Given the description of an element on the screen output the (x, y) to click on. 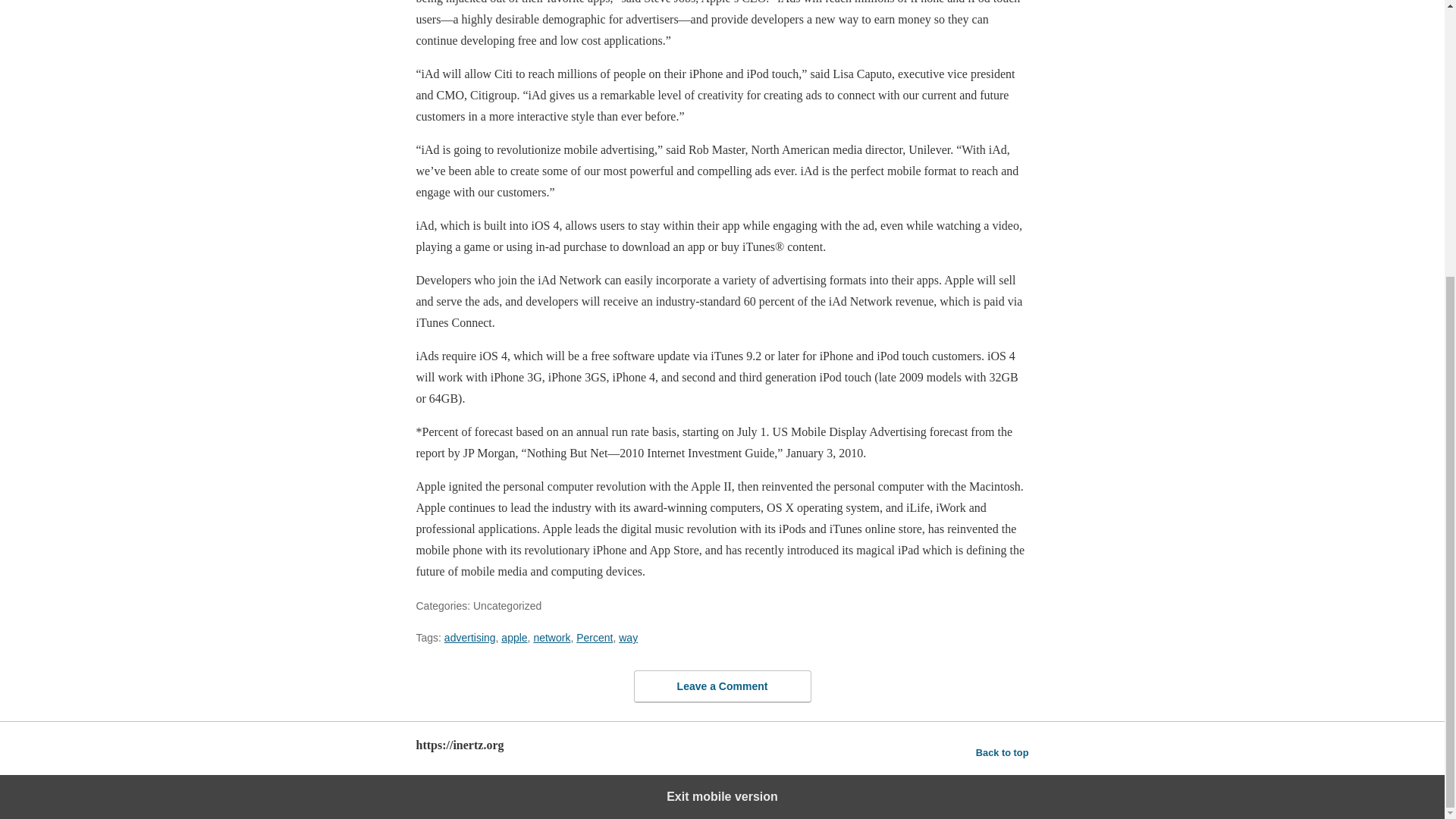
Percent (594, 637)
way (627, 637)
network (551, 637)
advertising (470, 637)
apple (513, 637)
Back to top (1002, 752)
Leave a Comment (721, 686)
